Given the description of an element on the screen output the (x, y) to click on. 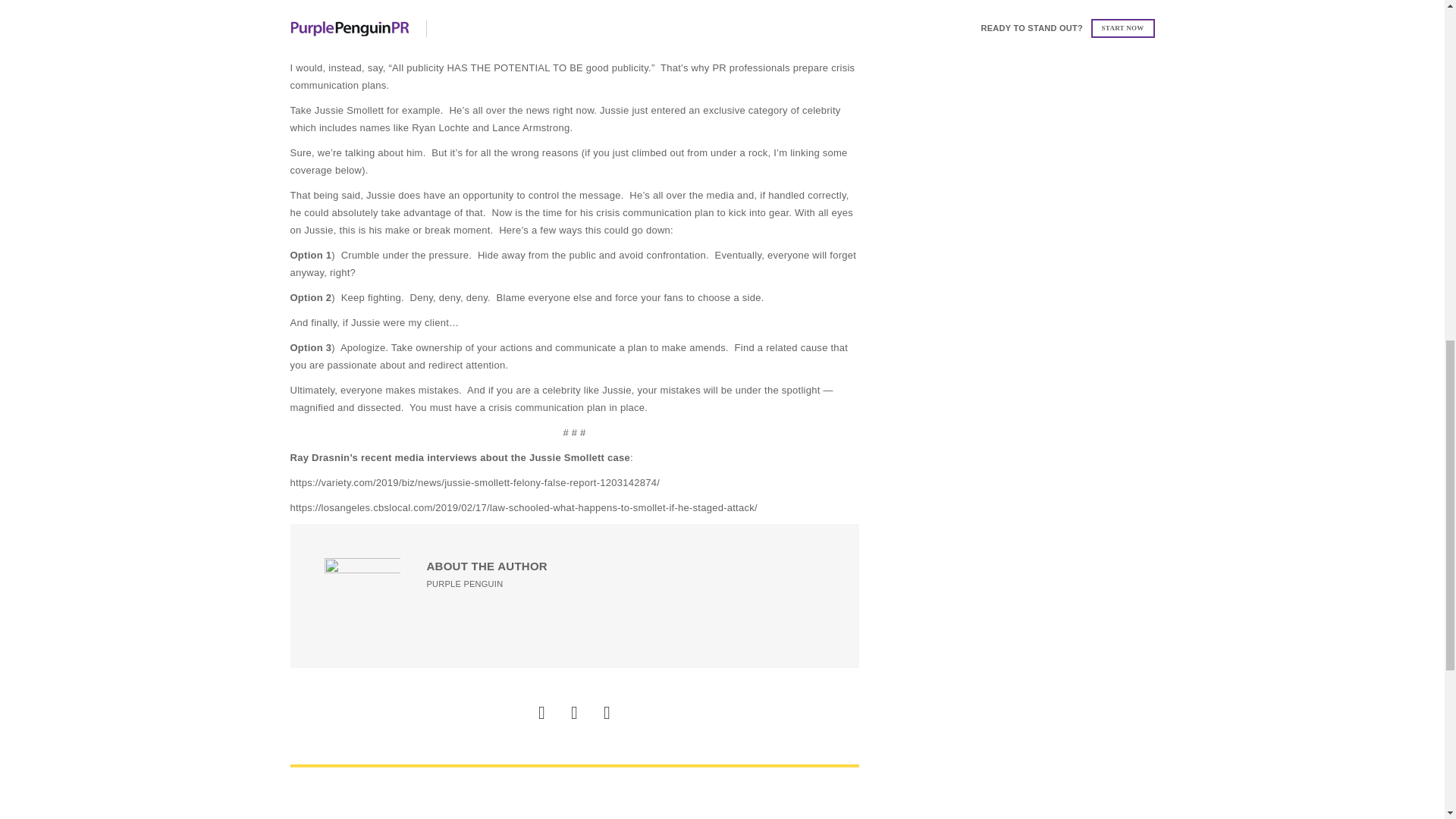
ABOUT THE AUTHOR (486, 565)
